Given the description of an element on the screen output the (x, y) to click on. 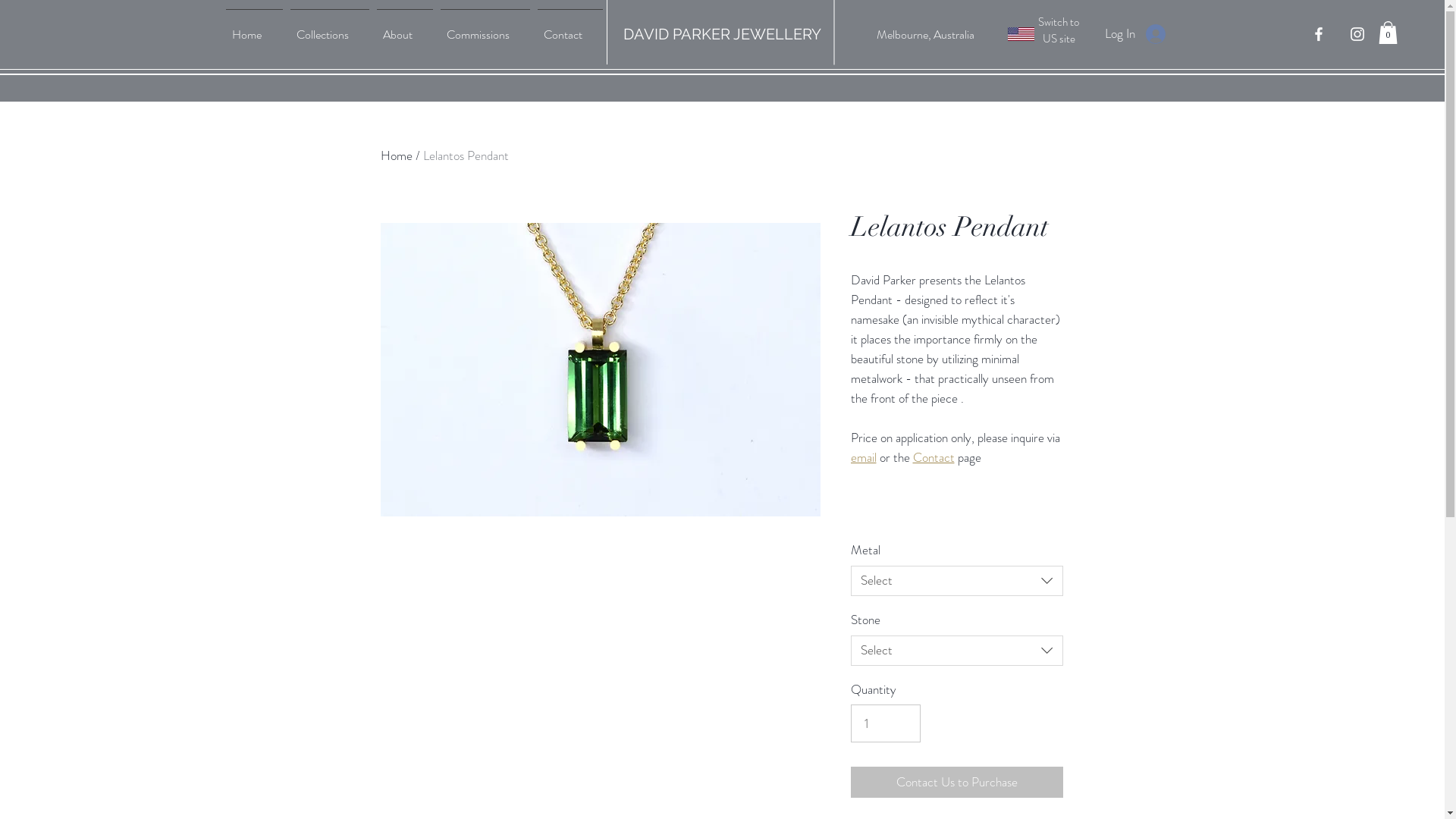
email Element type: text (863, 457)
Collections Element type: text (329, 28)
US site Element type: text (1057, 38)
Contact Element type: text (569, 28)
Home Element type: text (253, 28)
About Element type: text (404, 28)
DAVID PARKER JEWELLERY Element type: text (722, 34)
Lelantos Pendant Element type: text (465, 155)
Contact Element type: text (933, 457)
Select Element type: text (956, 650)
Home Element type: text (396, 155)
Switch to Element type: text (1058, 21)
Commissions Element type: text (484, 28)
0 Element type: text (1387, 32)
Log In Element type: text (1134, 33)
Select Element type: text (956, 580)
Contact Us to Purchase Element type: text (956, 782)
